Given the description of an element on the screen output the (x, y) to click on. 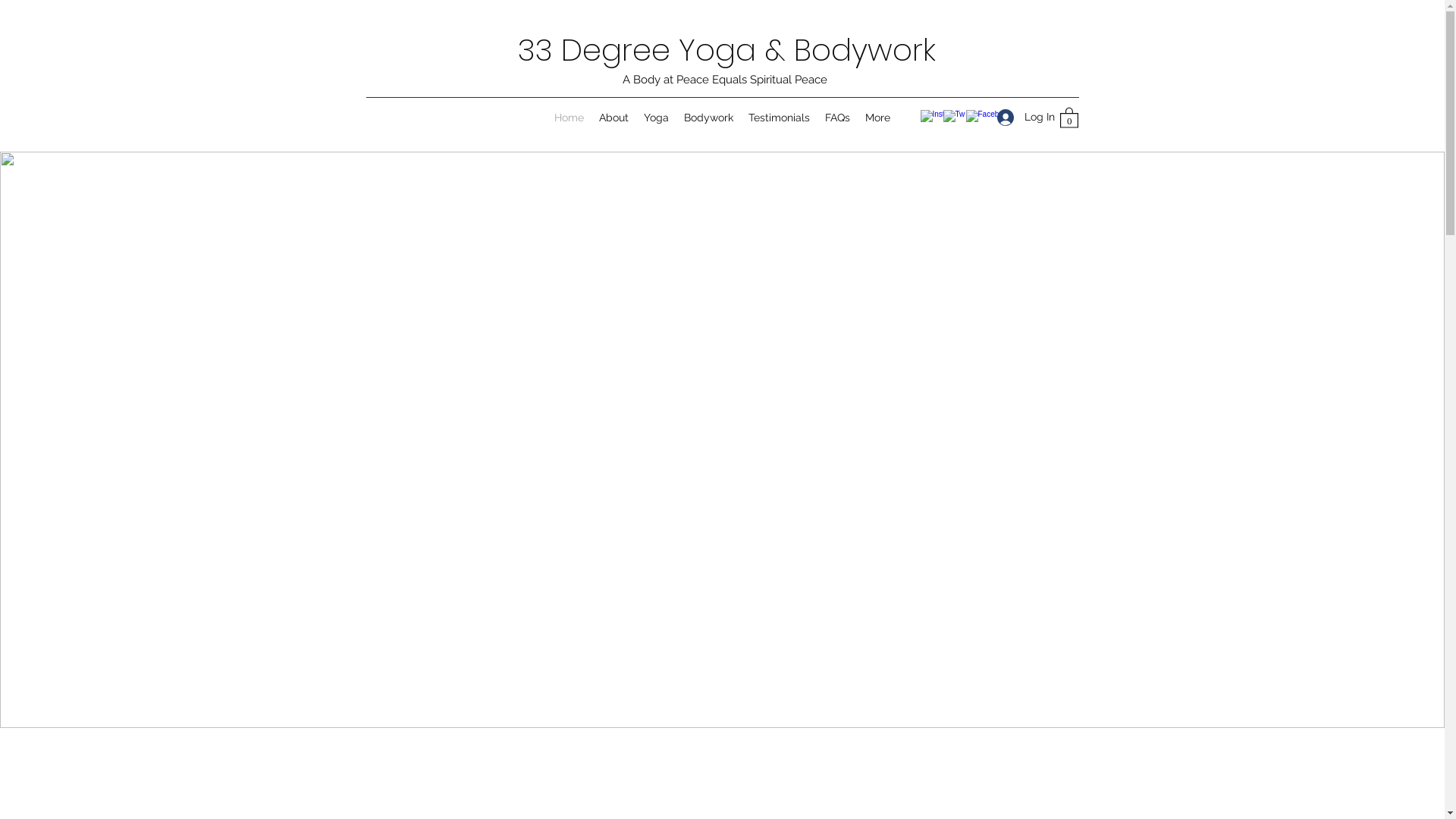
FAQs Element type: text (837, 117)
Bodywork Element type: text (708, 117)
Yoga Element type: text (656, 117)
0 Element type: text (1069, 117)
About Element type: text (613, 117)
Testimonials Element type: text (778, 117)
Log In Element type: text (1019, 117)
33 Degree Yoga & Bodywork Element type: text (726, 49)
Home Element type: text (568, 117)
